Given the description of an element on the screen output the (x, y) to click on. 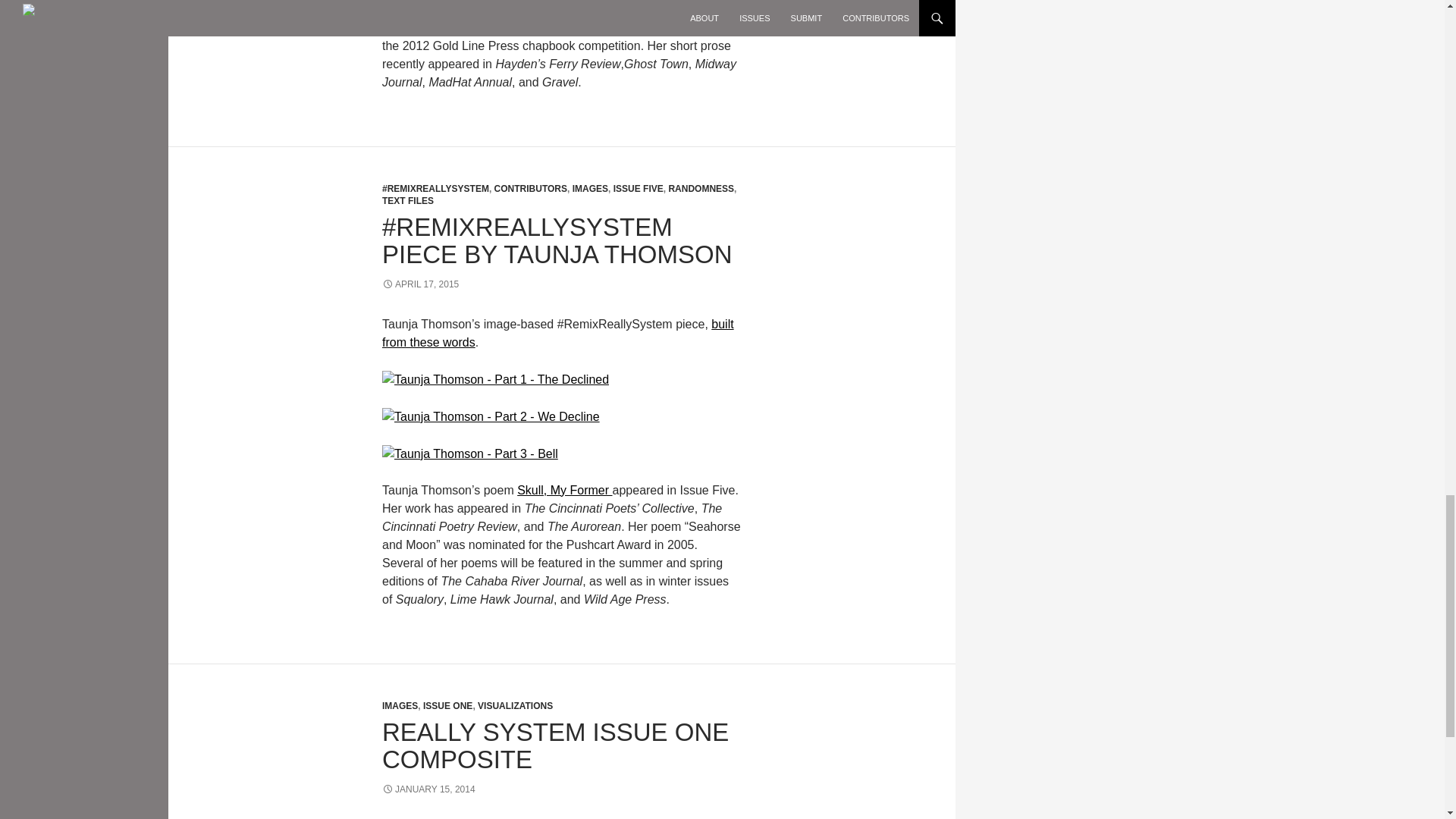
built from these words (557, 332)
ISSUE FIVE (637, 188)
TEXT FILES (407, 200)
RANDOMNESS (700, 188)
IMAGES (590, 188)
CONTRIBUTORS (531, 188)
APRIL 17, 2015 (419, 284)
